Given the description of an element on the screen output the (x, y) to click on. 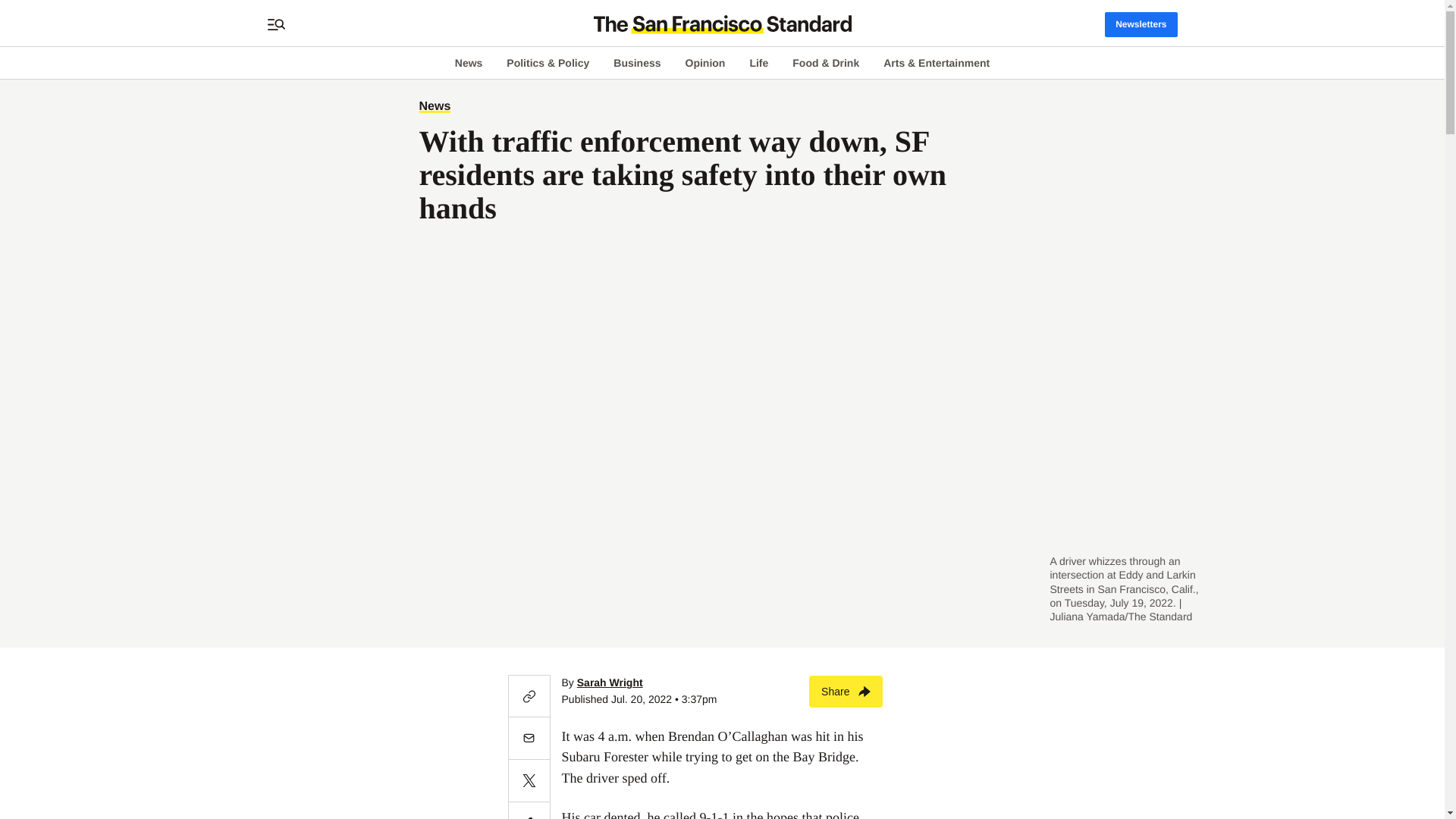
Opinion (705, 62)
Copy link to this article (529, 695)
Life (758, 62)
News (468, 62)
Business (636, 62)
Sarah Wright (609, 682)
Share (845, 691)
Open search bar and full menu (275, 24)
News (434, 106)
Newsletters (1140, 24)
